Given the description of an element on the screen output the (x, y) to click on. 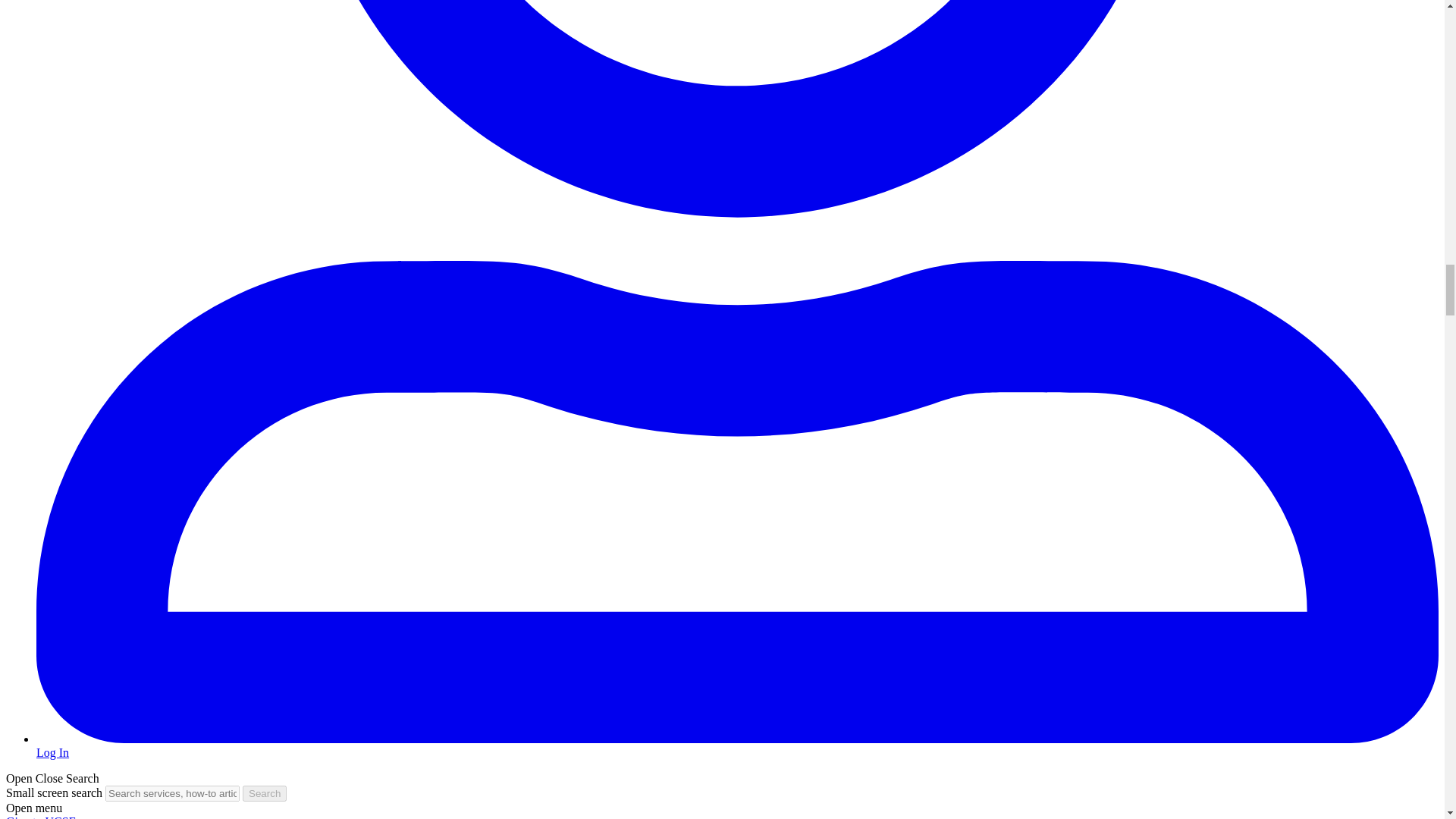
Search (264, 793)
Search (264, 793)
Give to UCSF (40, 816)
Search (264, 793)
